Given the description of an element on the screen output the (x, y) to click on. 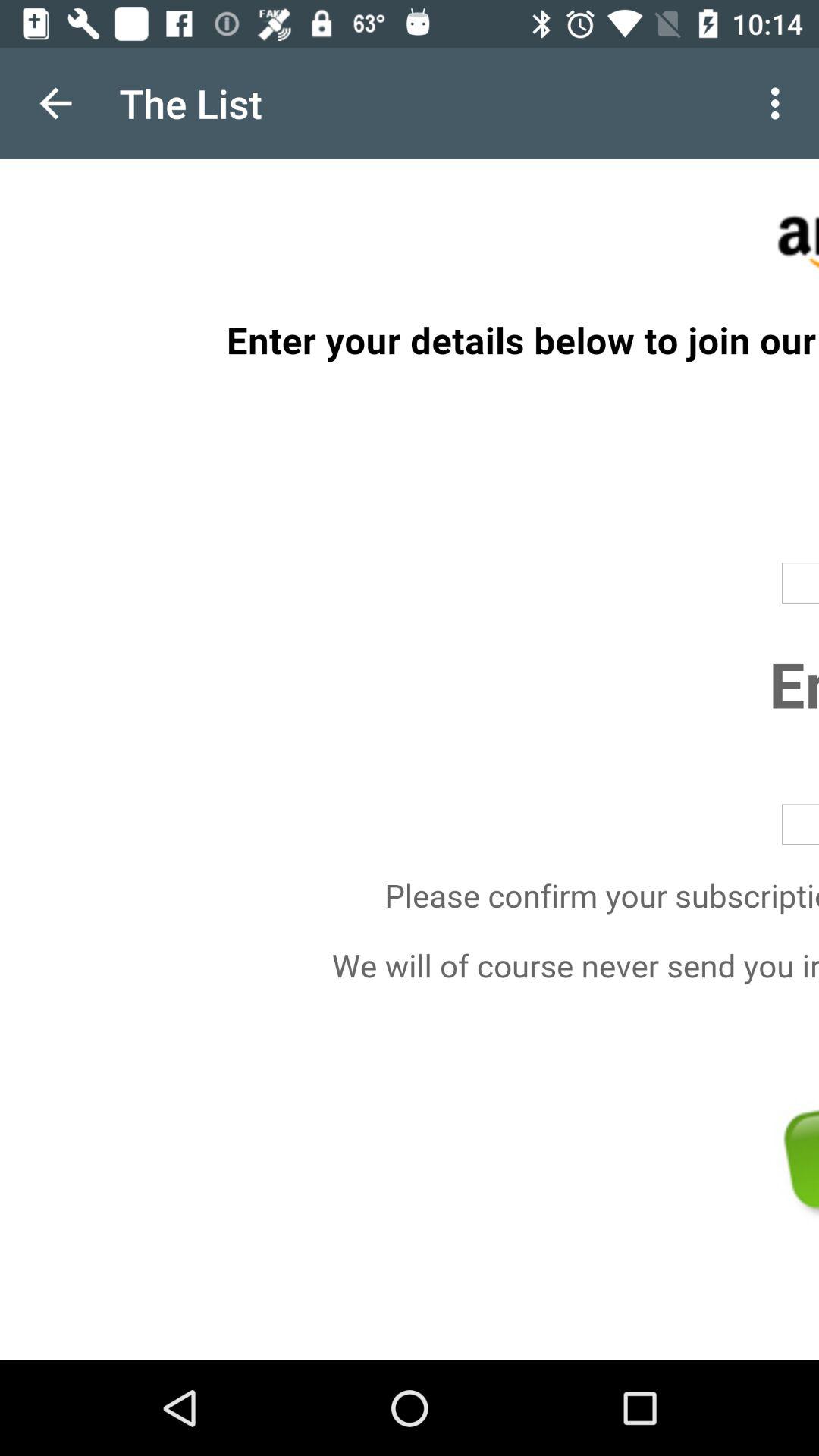
press icon at the top right corner (779, 103)
